Given the description of an element on the screen output the (x, y) to click on. 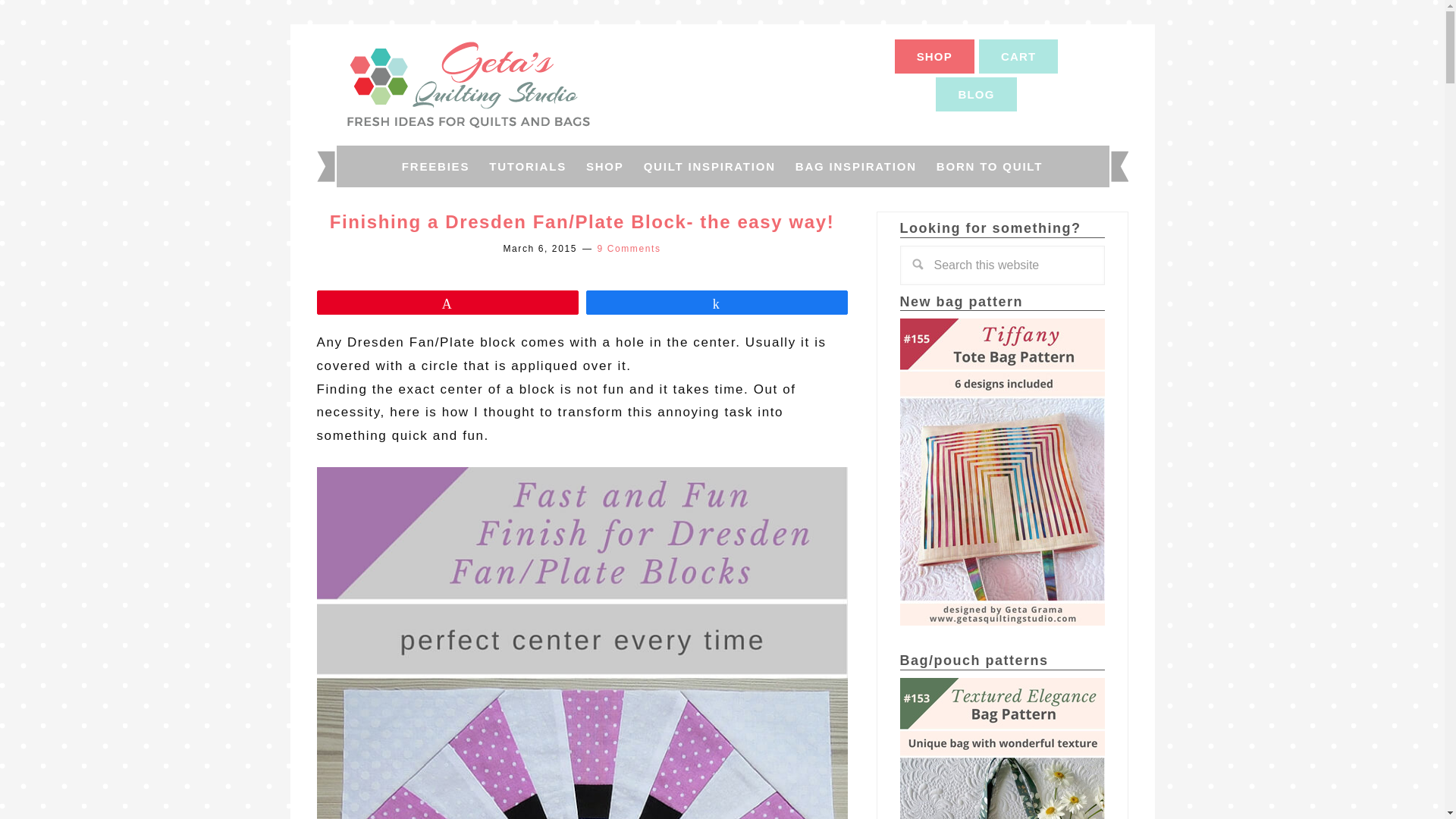
QUILT INSPIRATION (709, 166)
BLOG (976, 93)
TUTORIALS (527, 166)
BORN TO QUILT (988, 166)
BAG INSPIRATION (855, 166)
9 Comments (628, 248)
CART (1018, 56)
Geta's Quilting Studio (468, 84)
FREEBIES (435, 166)
SHOP (604, 166)
SHOP (934, 56)
